Given the description of an element on the screen output the (x, y) to click on. 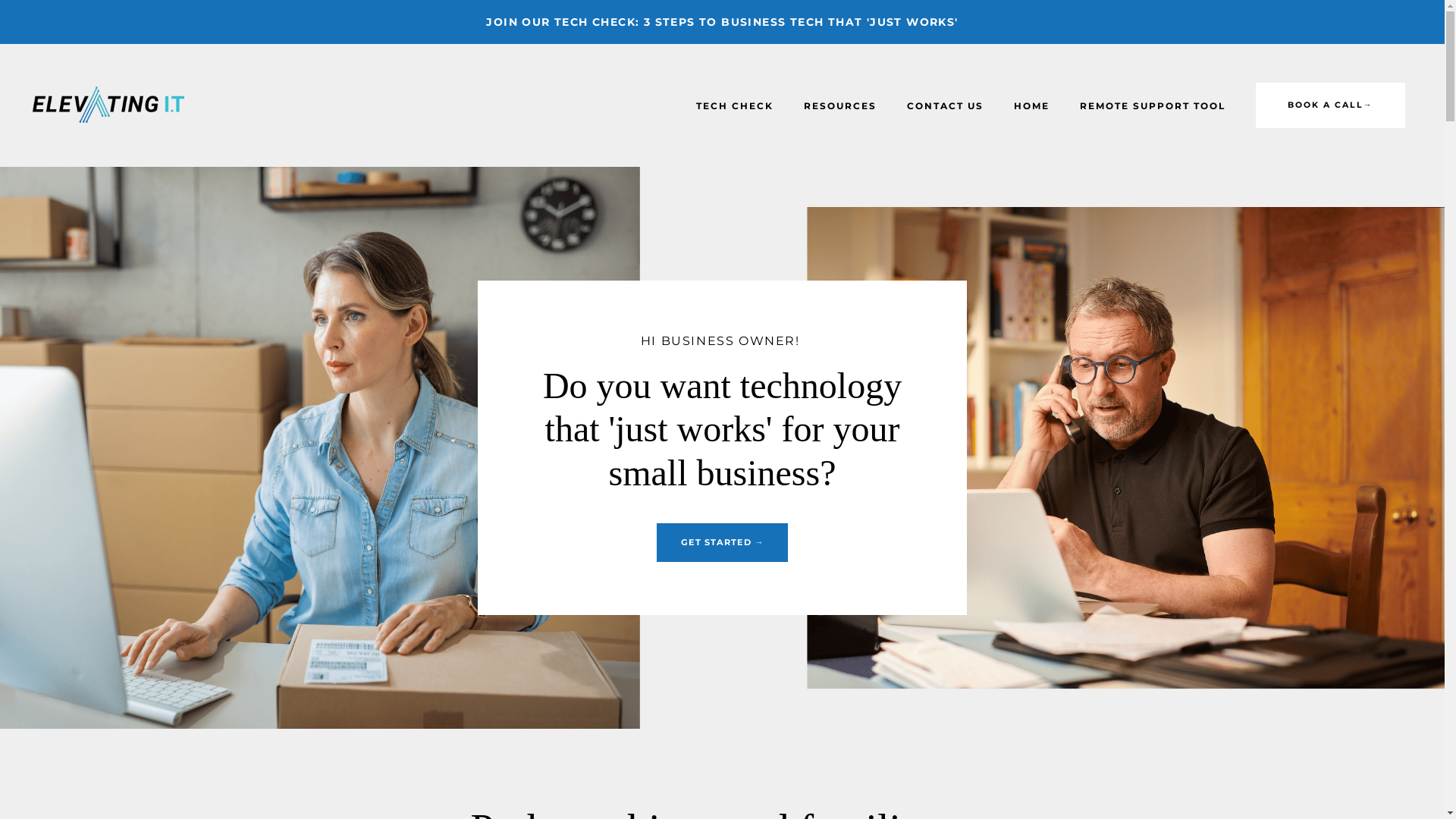
REMOTE SUPPORT TOOL Element type: text (1152, 105)
TECH CHECK Element type: text (734, 105)
HOME Element type: text (1031, 105)
RESOURCES Element type: text (839, 105)
CONTACT US Element type: text (944, 105)
